Given the description of an element on the screen output the (x, y) to click on. 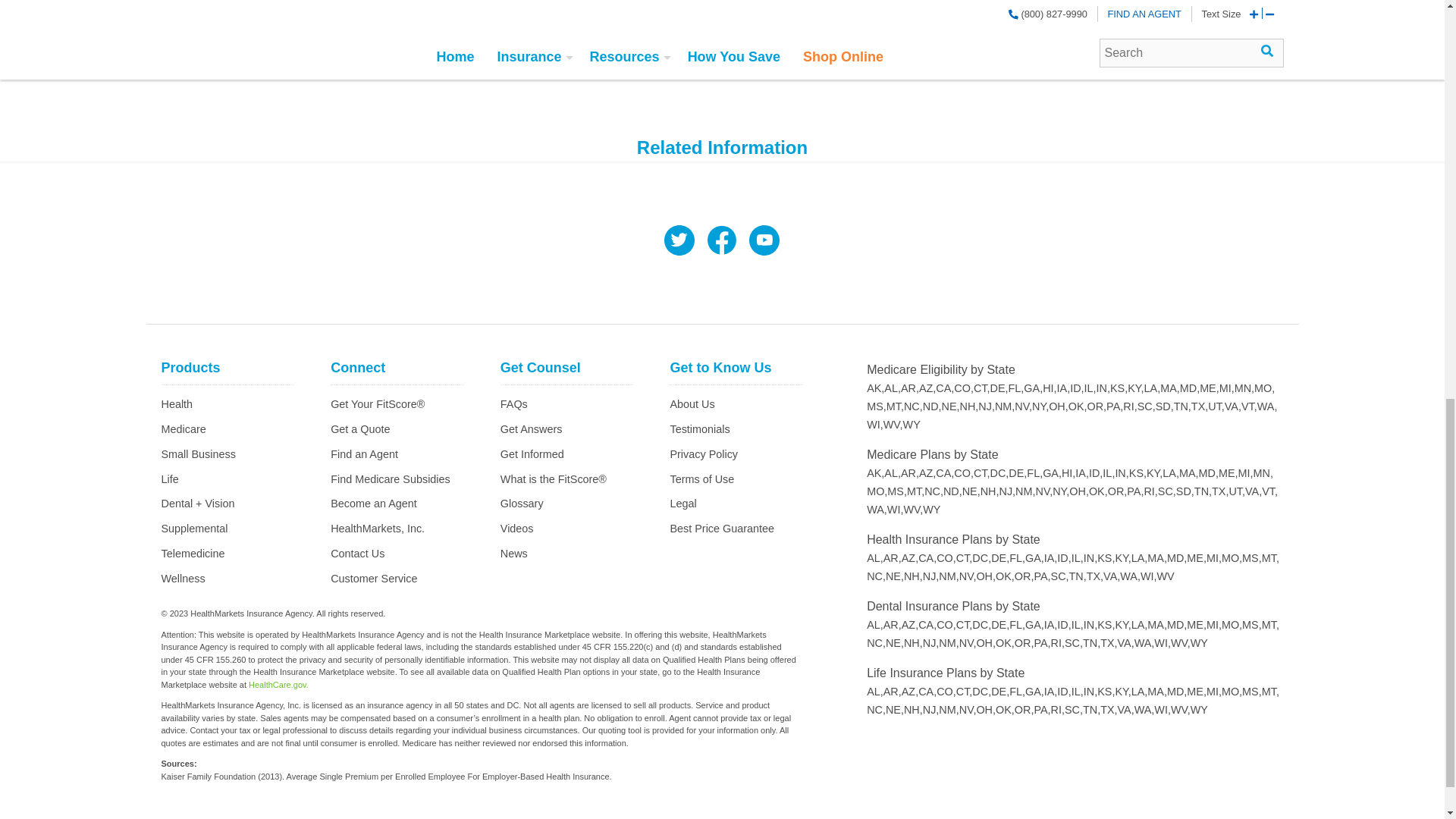
Medicare Eligibility in Georgia (1032, 387)
Twitter (679, 242)
Medicare Eligibility in Iowa (1063, 387)
YouTube (764, 242)
Medicare Eligibility in Idaho (1076, 387)
Medicare Eligibility in Delaware (999, 387)
Medicare Eligibility in Alaska (874, 387)
Medicare Eligibility in Indiana (1102, 387)
Medicare Eligibility in Kansas (1117, 387)
Medicare Eligibility in Arkansas (909, 387)
